Given the description of an element on the screen output the (x, y) to click on. 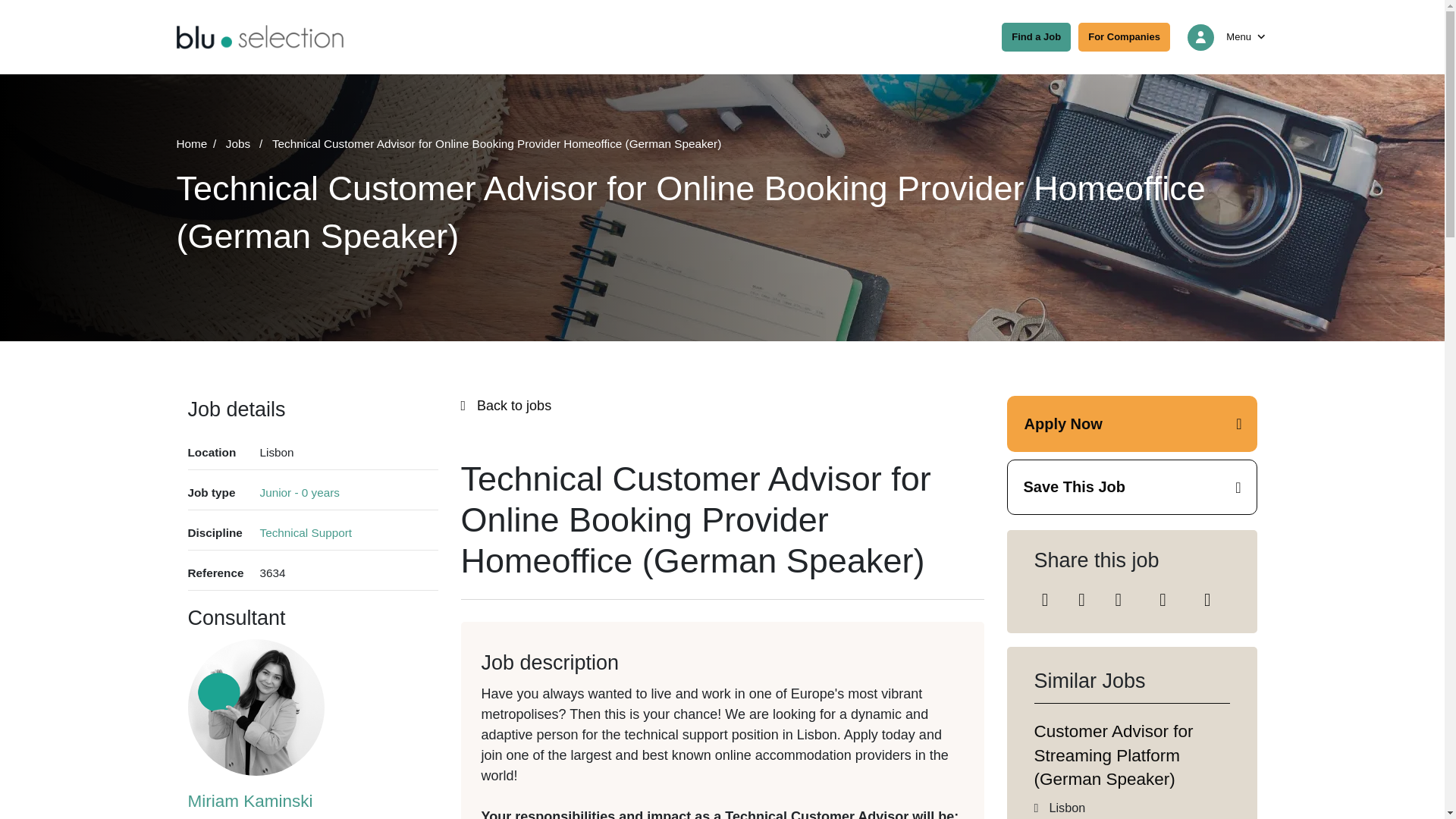
Back to jobs (722, 405)
Technical Support (305, 533)
Save This Job (1132, 486)
Jobs (246, 143)
Go to the Homepage (259, 37)
Find a Job (1035, 36)
Junior - 0 years (299, 493)
For Companies (1124, 36)
Open Menu (1246, 37)
Login (1201, 37)
Miriam Kaminski (275, 804)
Home (198, 143)
Menu (1246, 37)
Apply Now (1132, 423)
